Given the description of an element on the screen output the (x, y) to click on. 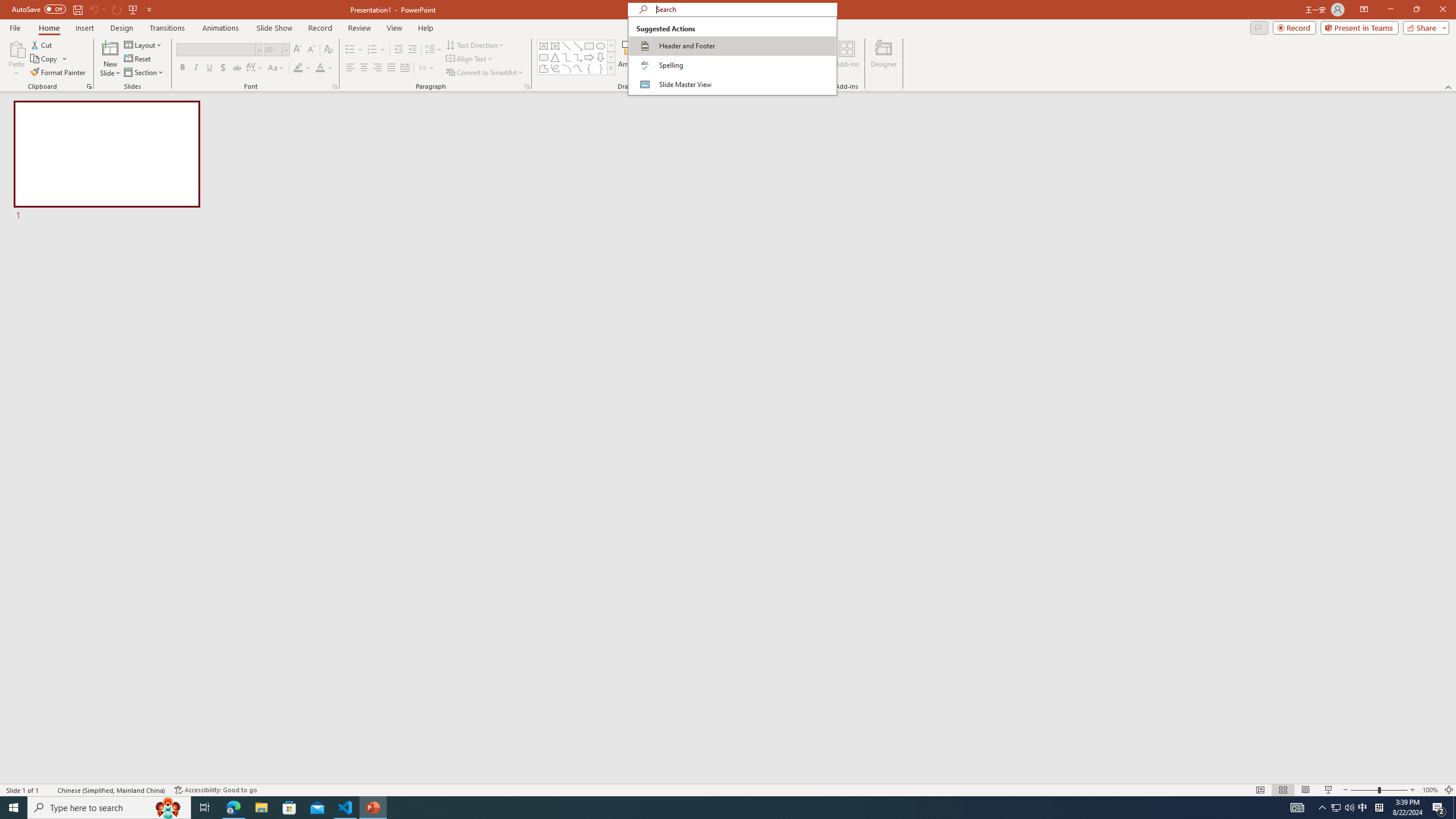
Class: NetUITWMenuContainer (731, 56)
